Given the description of an element on the screen output the (x, y) to click on. 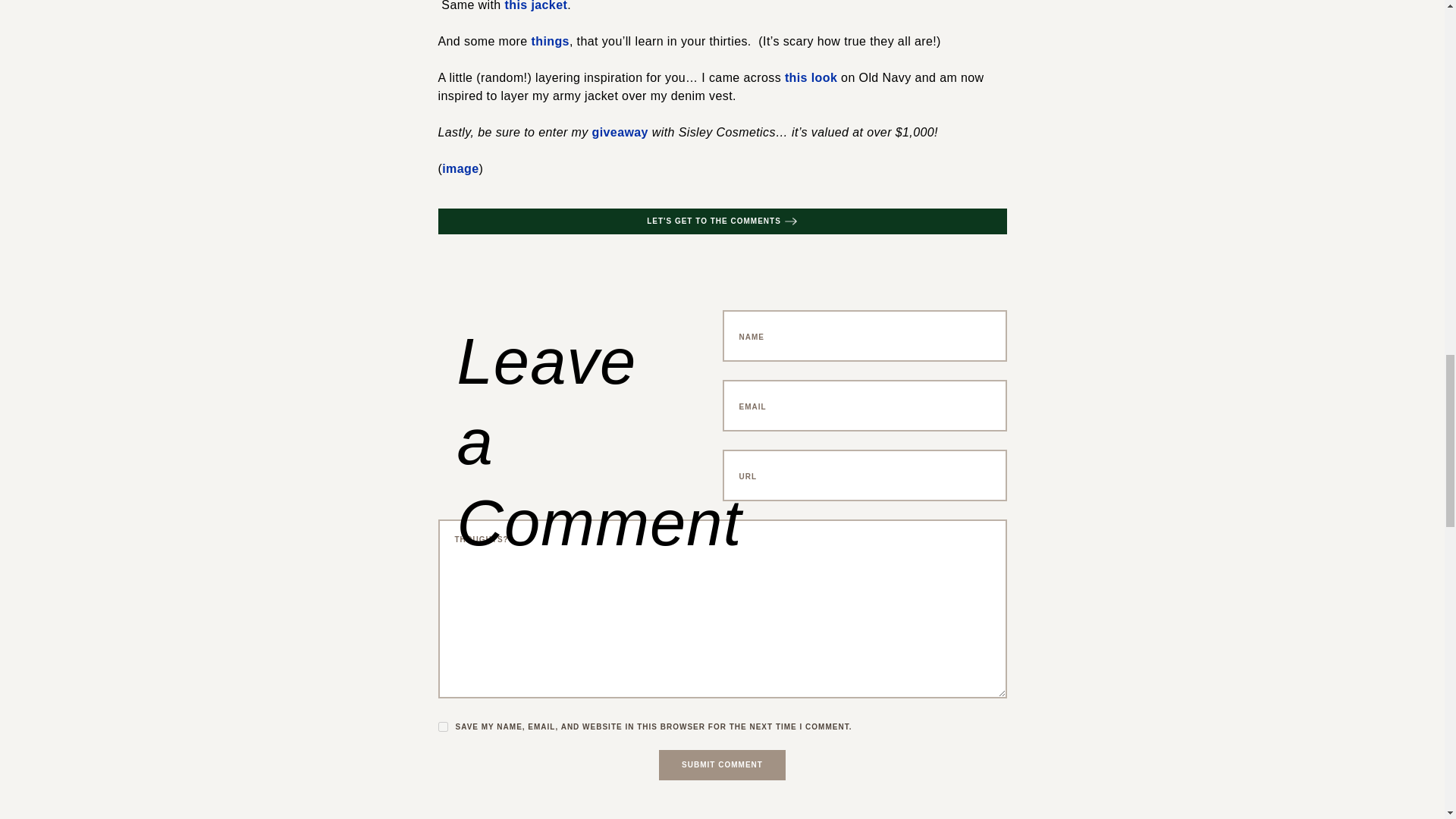
yes (443, 726)
Submit Comment (722, 765)
